Given the description of an element on the screen output the (x, y) to click on. 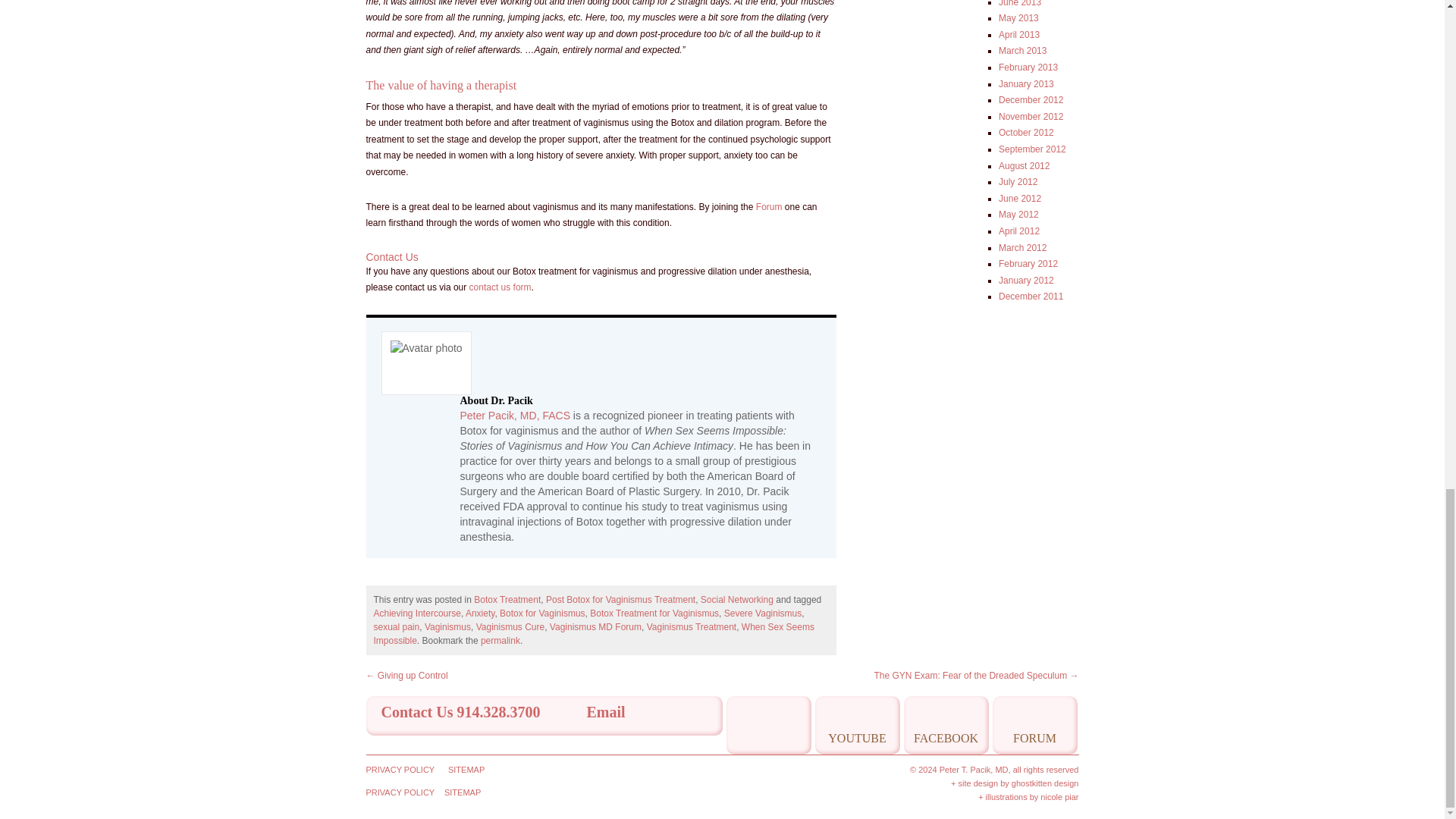
Vaginismus MD Forum (769, 206)
Contact Us at VaginismusMD (499, 286)
Permalink to Anxiety and Vaginismus (499, 640)
